Given the description of an element on the screen output the (x, y) to click on. 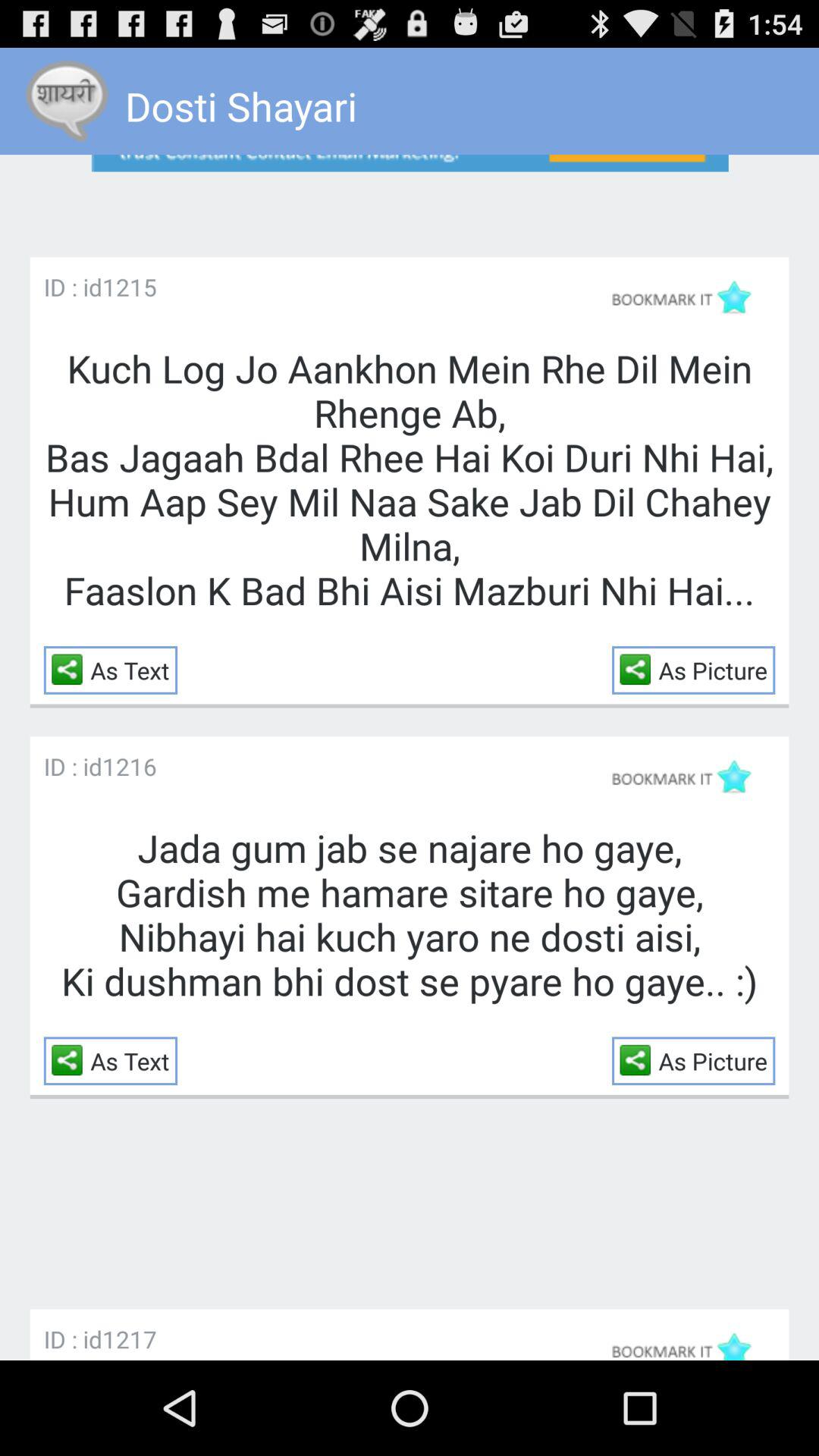
select icon to the left of as picture item (638, 669)
